Given the description of an element on the screen output the (x, y) to click on. 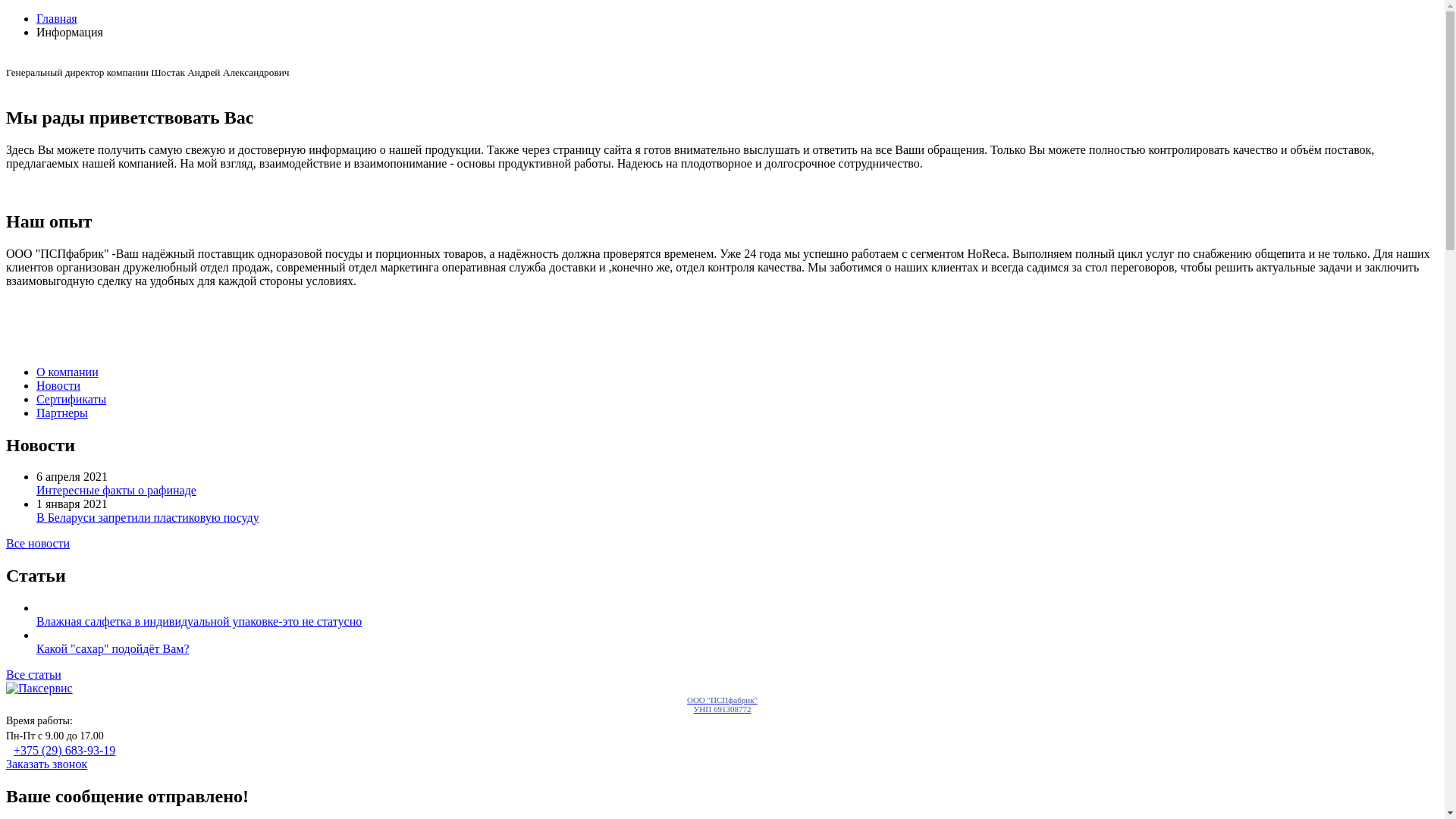
+375 (29) 683-93-19 Element type: text (64, 749)
